Given the description of an element on the screen output the (x, y) to click on. 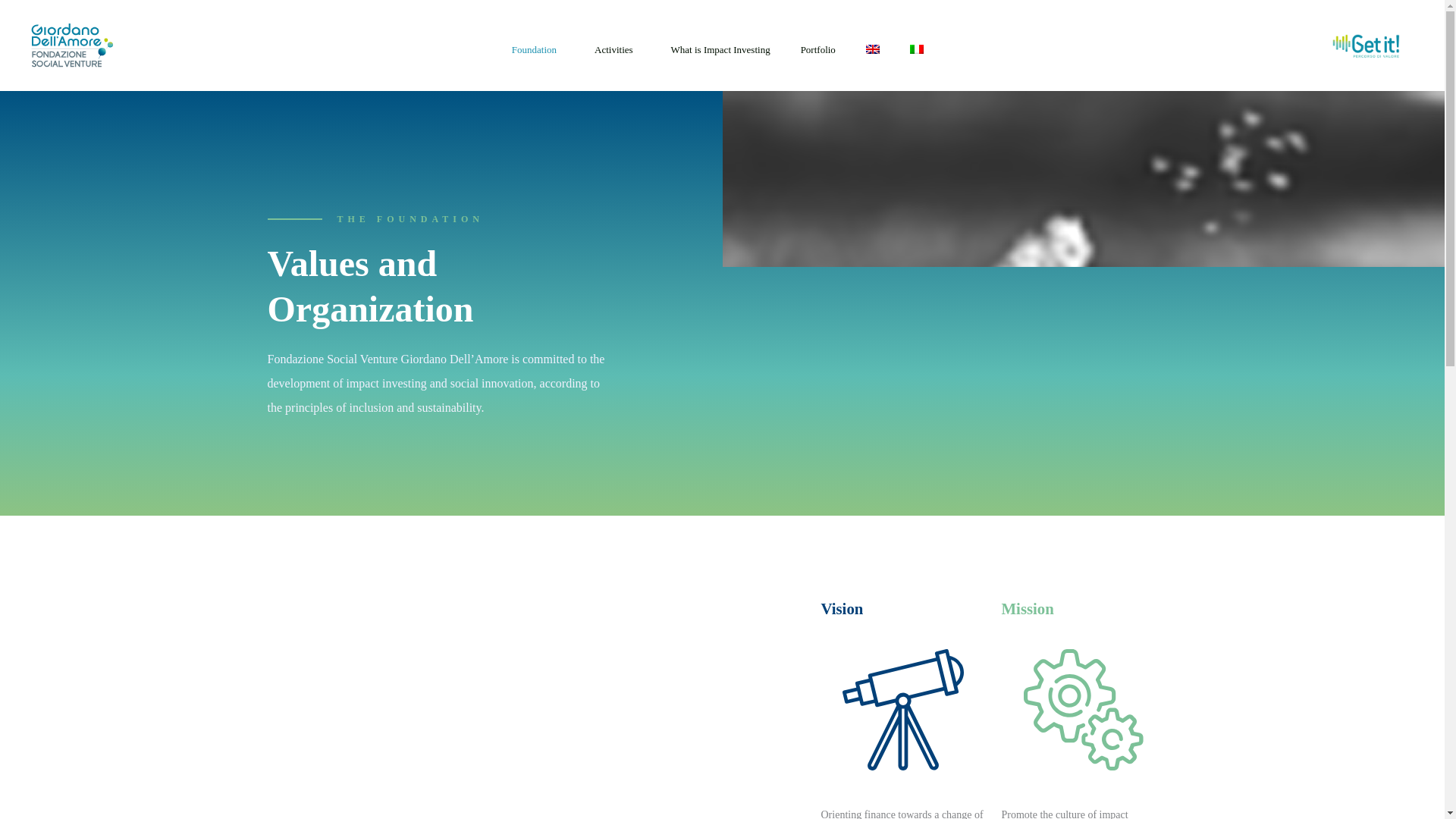
Foundation (538, 49)
What is Impact Investing (720, 49)
Portfolio (817, 49)
Activities (617, 49)
